Given the description of an element on the screen output the (x, y) to click on. 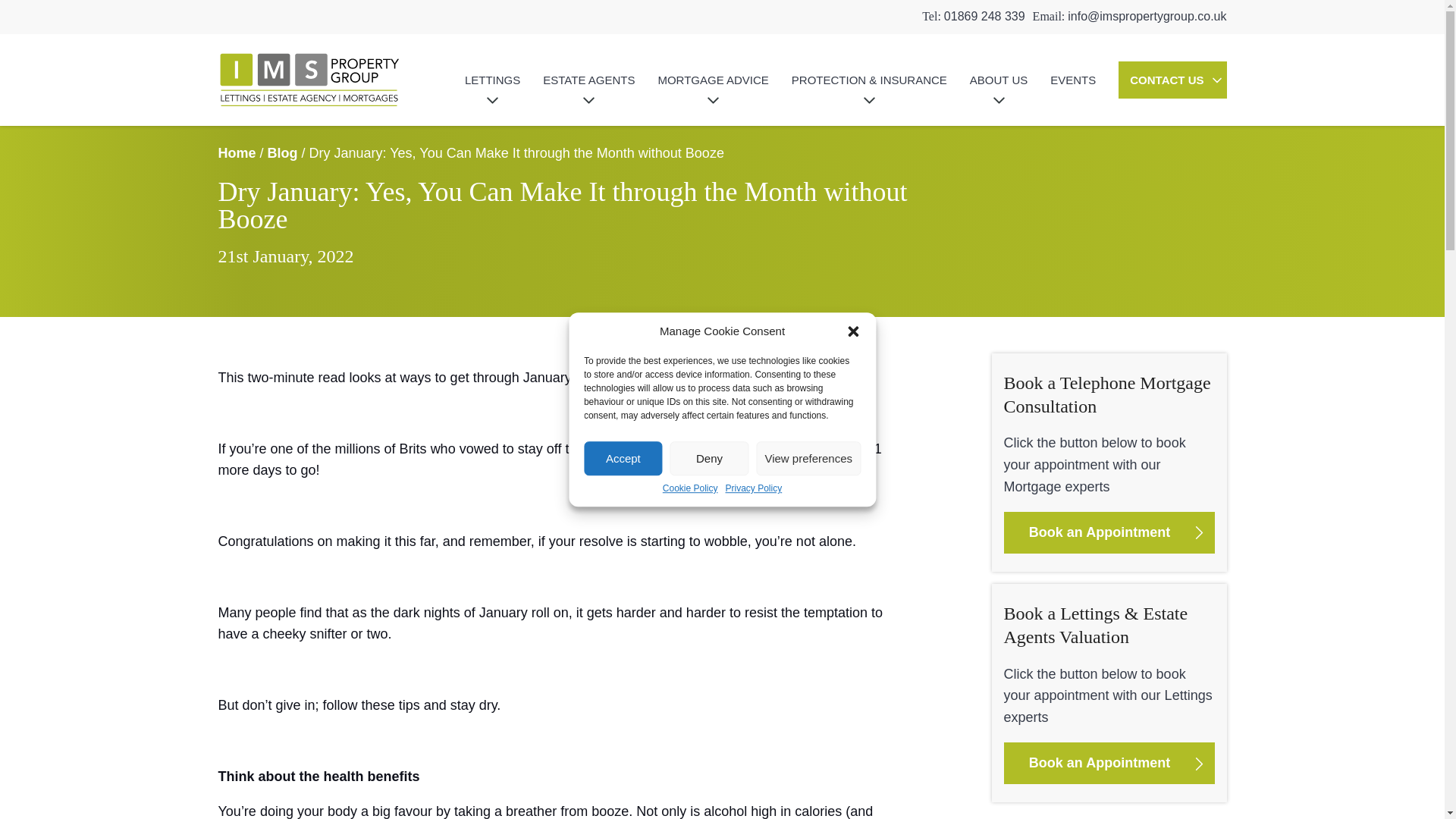
Deny (709, 458)
Cookie Policy (689, 489)
MORTGAGE ADVICE (713, 79)
01869 248 339 (984, 15)
View preferences (807, 458)
ESTATE AGENTS (588, 79)
Accept (622, 458)
LETTINGS (491, 79)
Privacy Policy (754, 489)
